Given the description of an element on the screen output the (x, y) to click on. 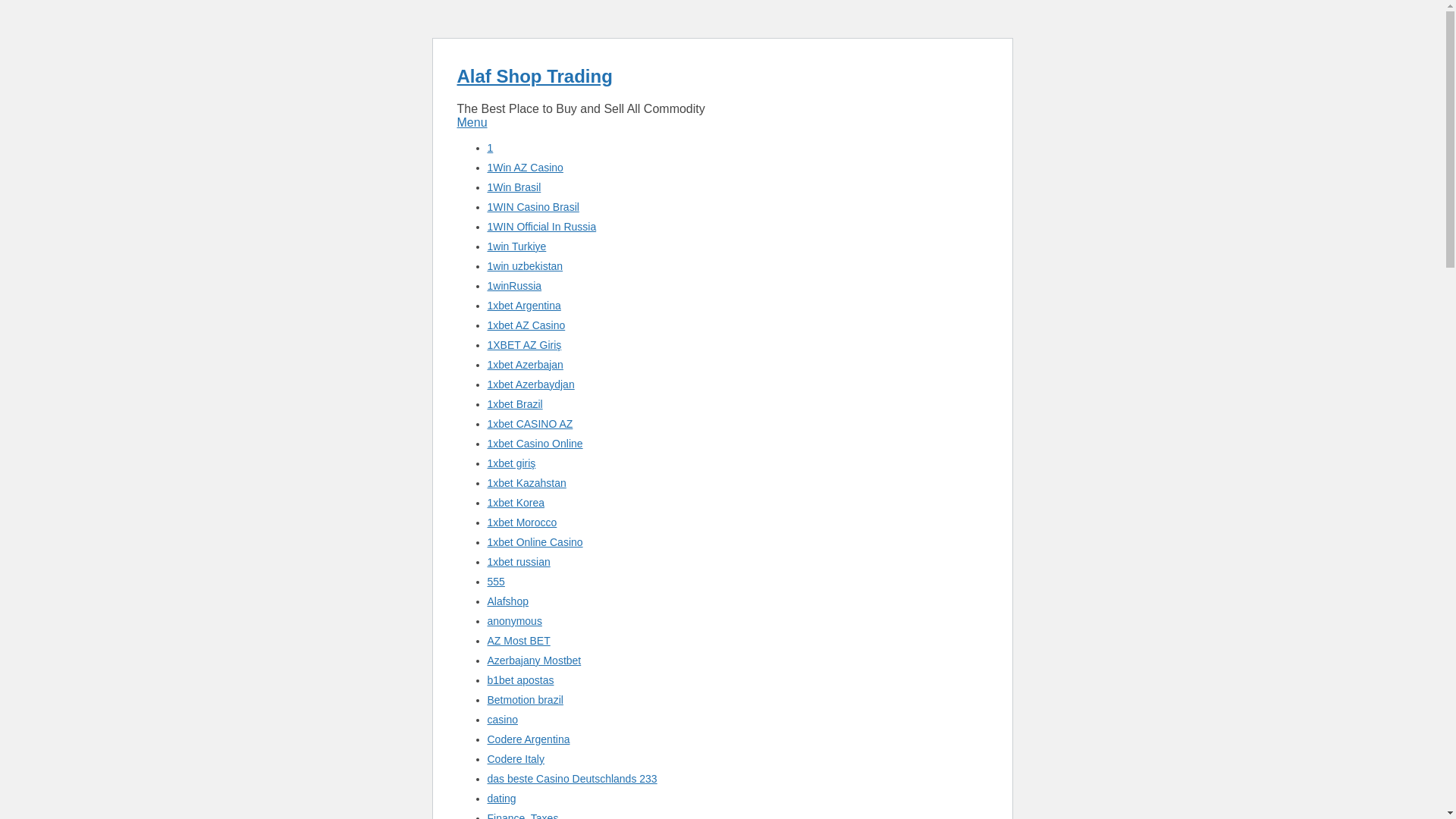
AZ Most BET (518, 640)
dating (500, 798)
1xbet Morocco (521, 522)
1xbet AZ Casino (525, 325)
Betmotion brazil (524, 699)
Finance, Taxes (521, 815)
1win Turkiye (516, 246)
1xbet Brazil (513, 404)
Codere Argentina (527, 739)
1xbet Azerbaydjan (529, 384)
